Given the description of an element on the screen output the (x, y) to click on. 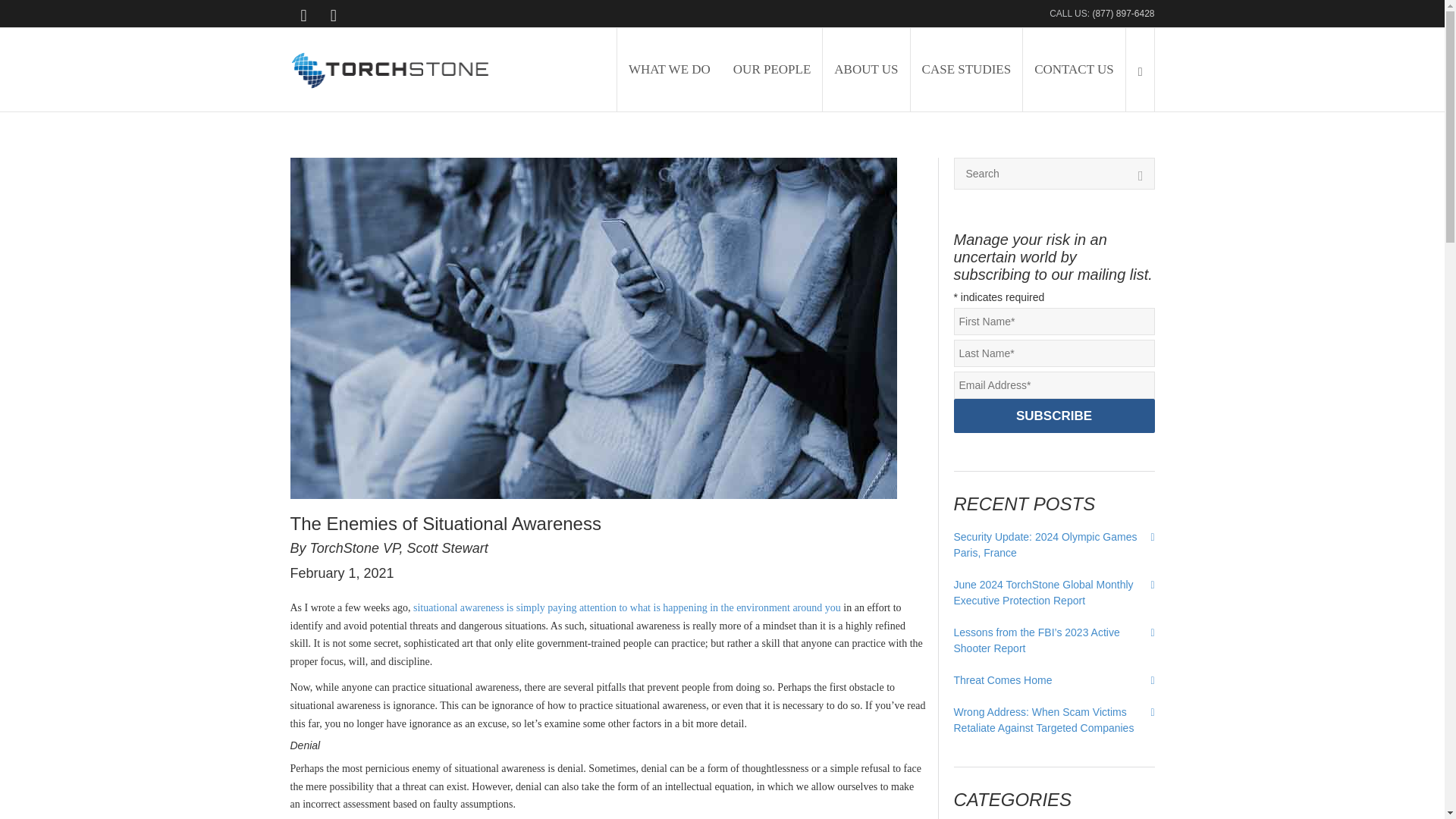
ABOUT US (865, 69)
SUBSCRIBE (1053, 415)
OUR PEOPLE (772, 69)
WHAT WE DO (669, 69)
